Given the description of an element on the screen output the (x, y) to click on. 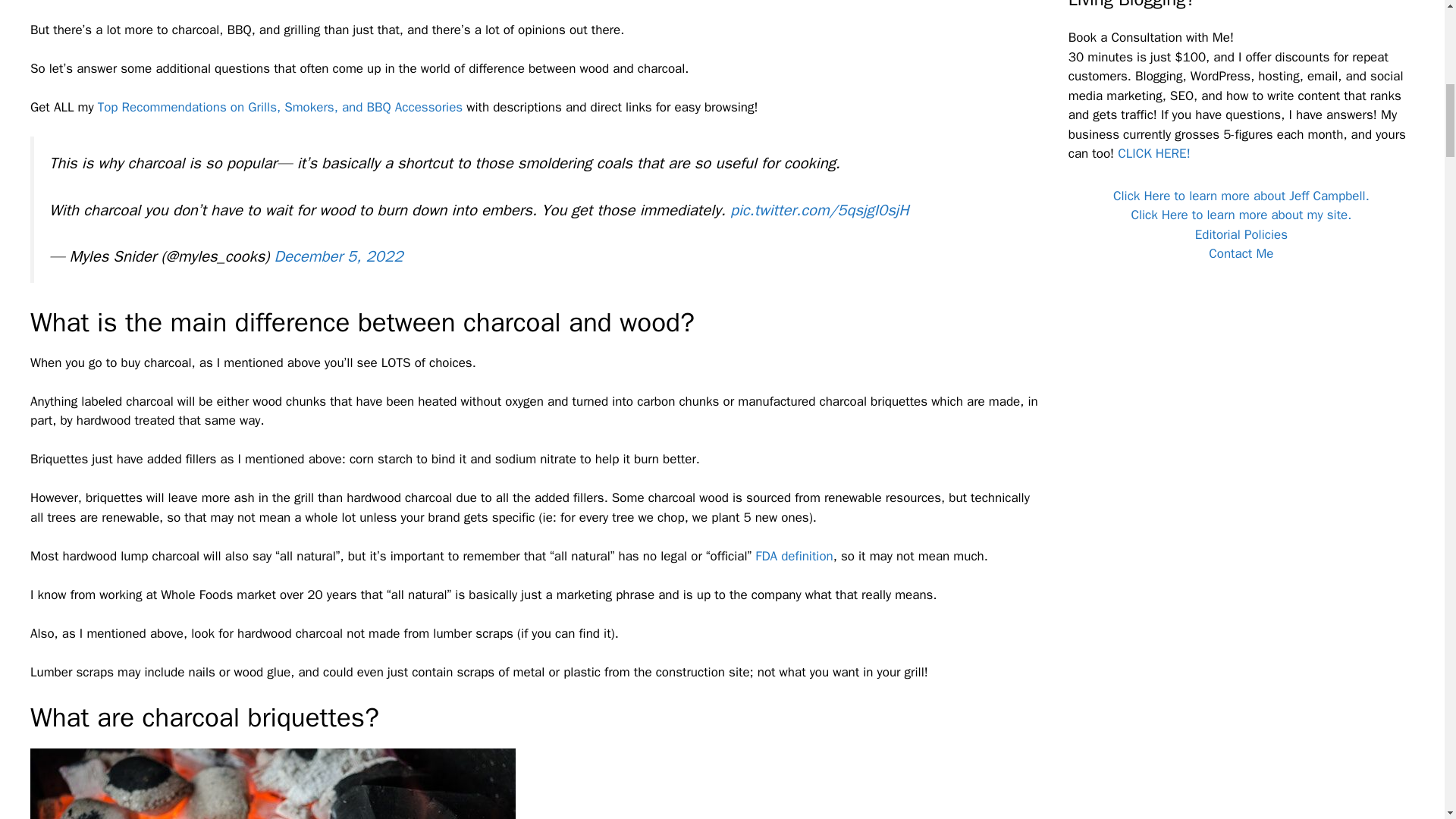
Scroll back to top (1406, 720)
